Given the description of an element on the screen output the (x, y) to click on. 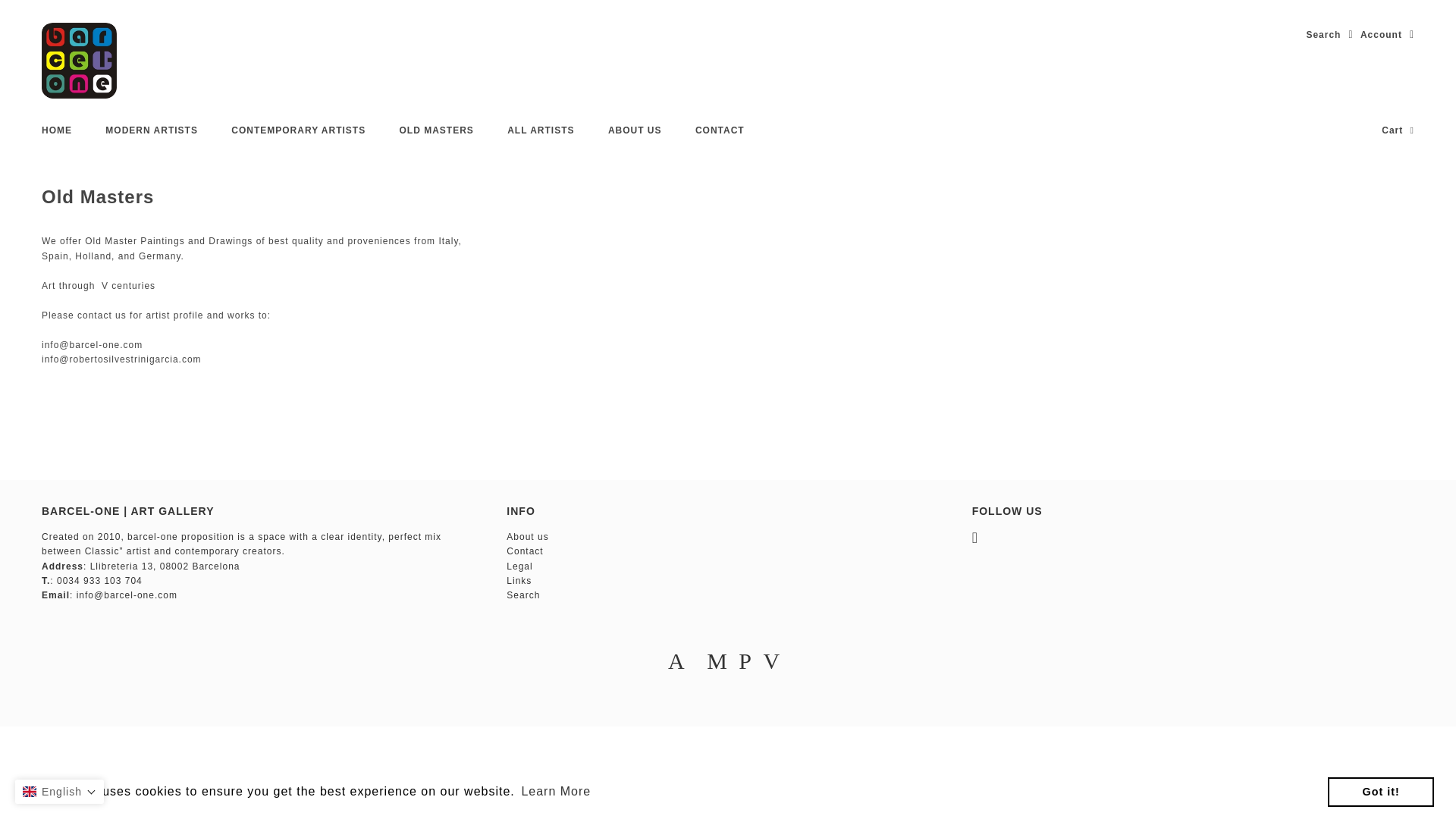
Legal (519, 566)
barcel-one (79, 60)
ALL ARTISTS (540, 130)
About us (527, 536)
ABOUT US (634, 130)
HOME (56, 130)
MODERN ARTISTS (151, 130)
Search (523, 594)
Links (518, 580)
Search (1329, 34)
